Given the description of an element on the screen output the (x, y) to click on. 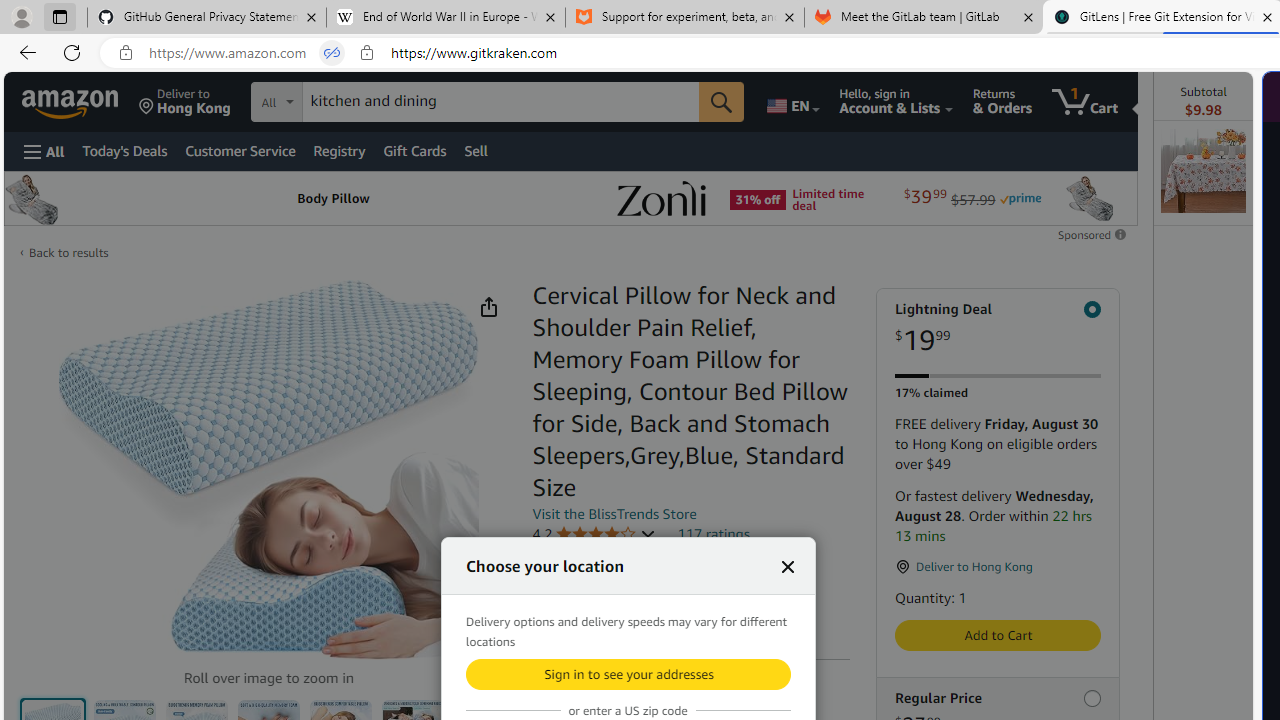
Sign in to see your addresses (628, 674)
Sell (475, 150)
Customer Service (240, 150)
Share (489, 307)
Prime (1019, 198)
End of World War II in Europe - Wikipedia (445, 17)
Registry (339, 150)
Add to Cart (997, 635)
Skip to main content (86, 100)
Sustainability features (542, 616)
Today's Deals (124, 150)
